Given the description of an element on the screen output the (x, y) to click on. 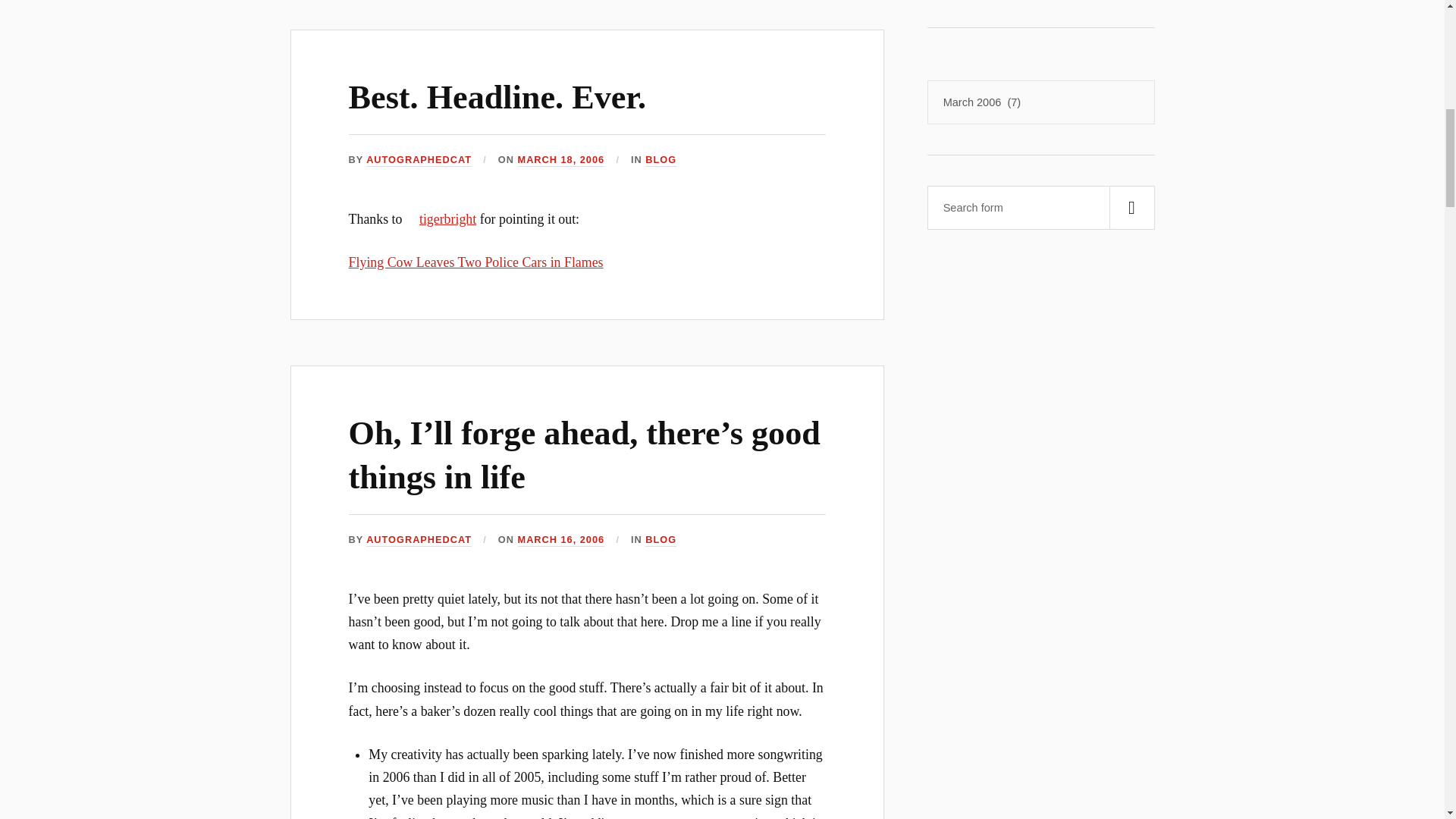
Posts by autographedcat (418, 160)
MARCH 18, 2006 (561, 160)
Posts by autographedcat (418, 540)
AUTOGRAPHEDCAT (418, 160)
BLOG (661, 160)
Flying Cow Leaves Two Police Cars in Flames (476, 262)
Best. Headline. Ever. (497, 97)
tigerbright (441, 218)
BLOG (661, 540)
MARCH 16, 2006 (561, 540)
AUTOGRAPHEDCAT (418, 540)
Visit tigerbright's LiveJournal (441, 218)
